Given the description of an element on the screen output the (x, y) to click on. 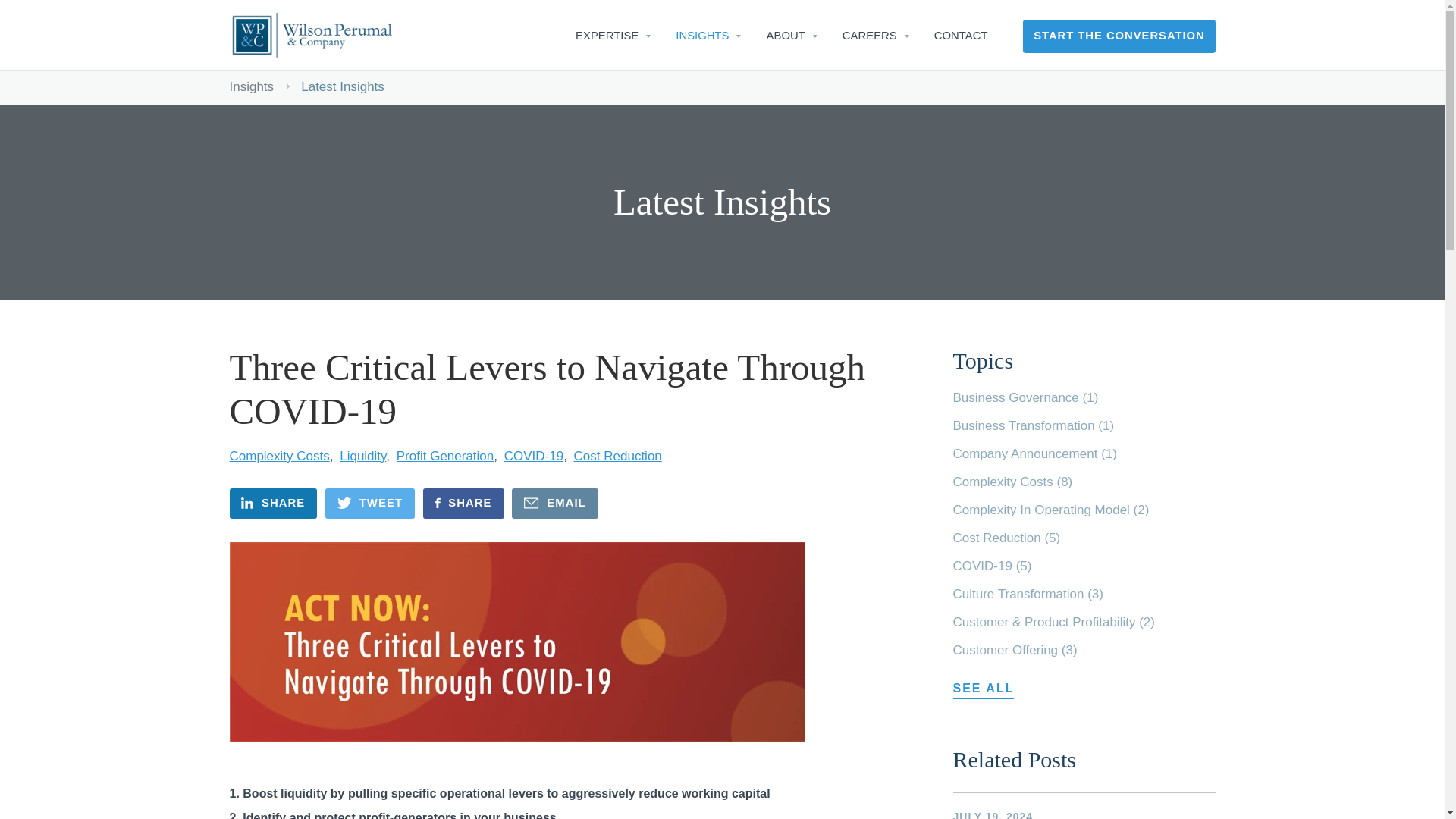
Tweet on Twitter (369, 503)
Email (555, 503)
EXPERTISE (607, 36)
INSIGHTS (702, 36)
Share on Facebook (463, 503)
Share on LinkedIn (272, 503)
